Given the description of an element on the screen output the (x, y) to click on. 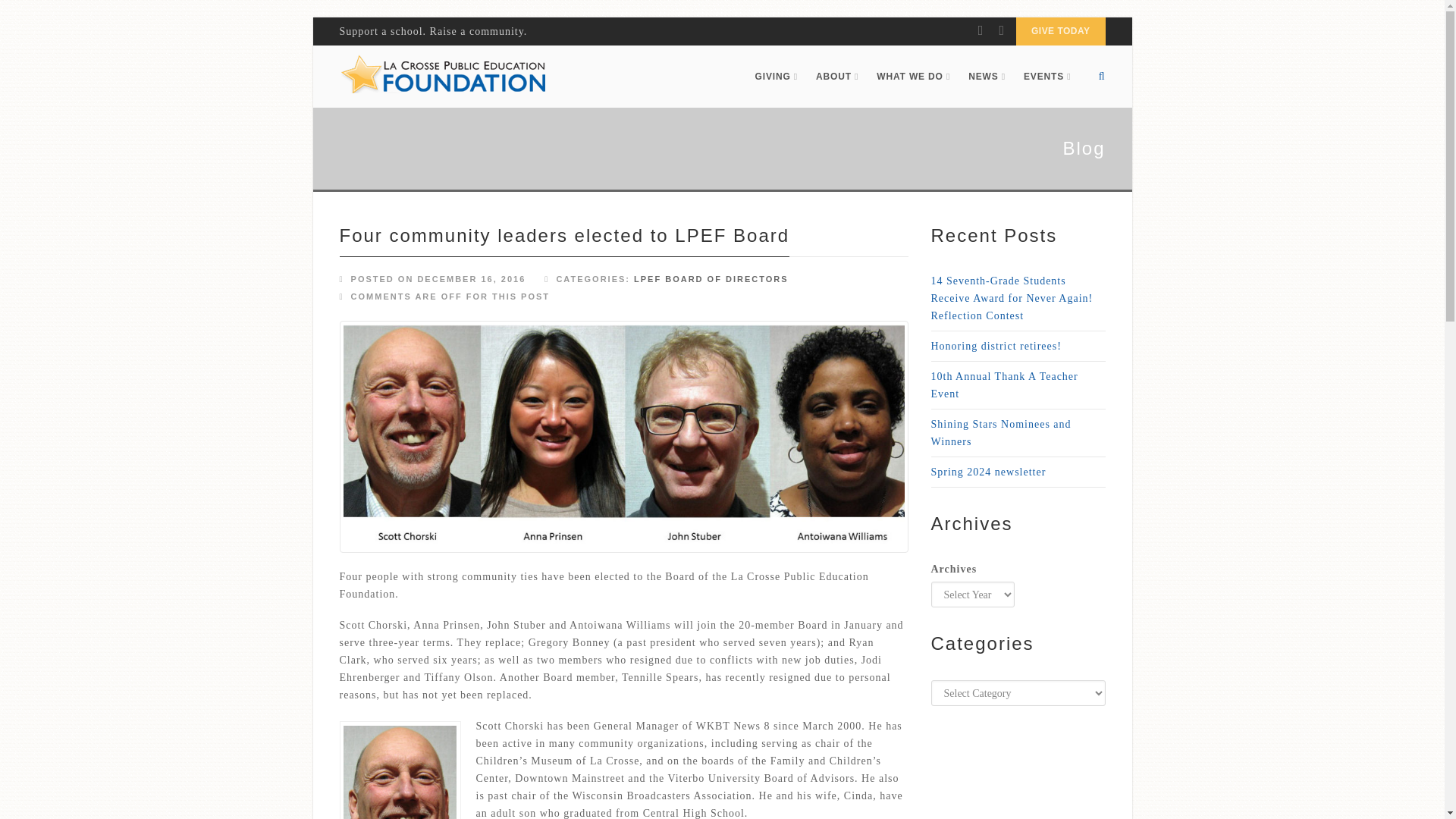
GIVING (775, 76)
La Crosse Public Education Foundation (443, 76)
GIVE TODAY (1060, 31)
NEWS (986, 76)
ABOUT (836, 76)
WHAT WE DO (913, 76)
